Given the description of an element on the screen output the (x, y) to click on. 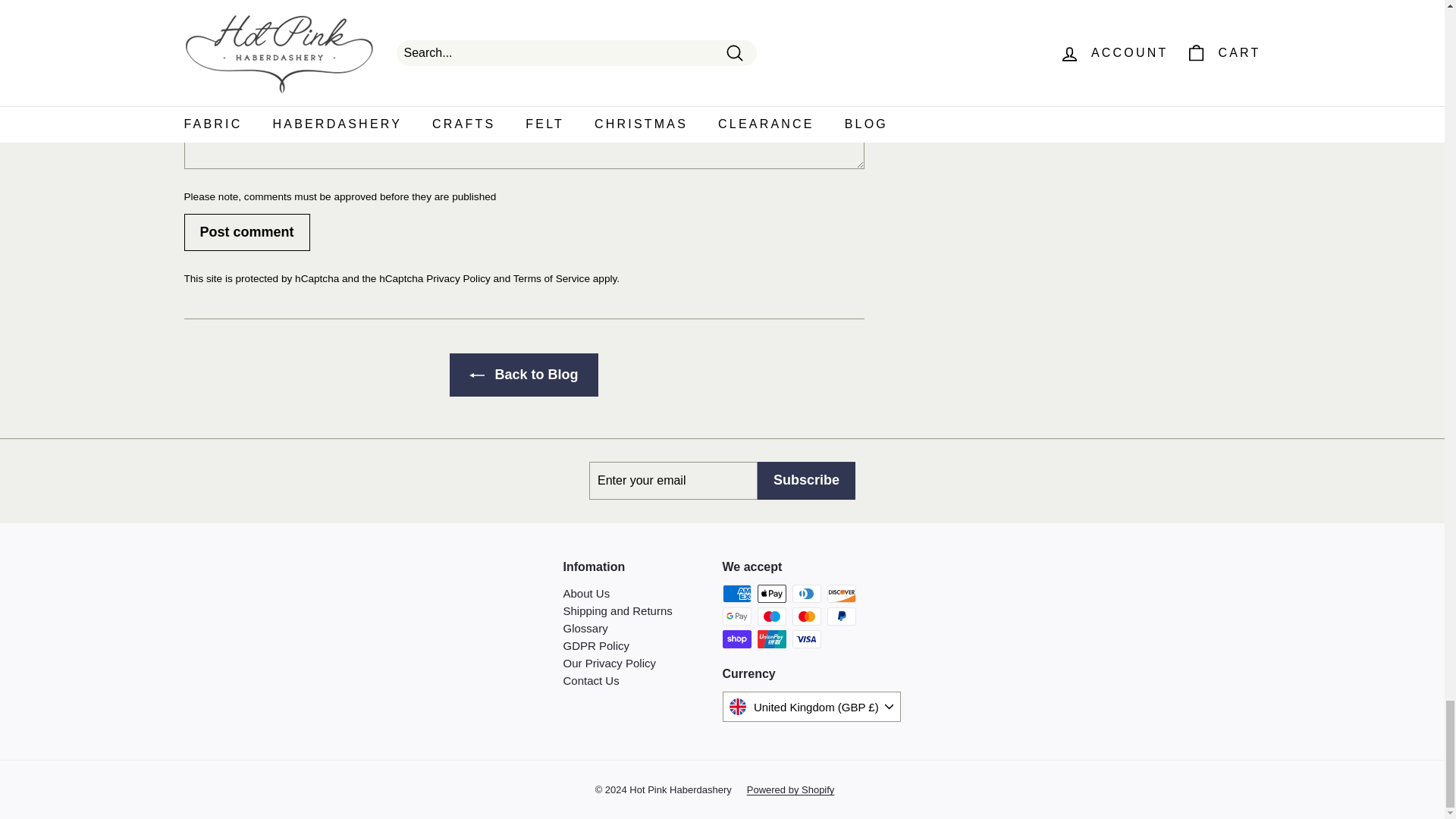
Apple Pay (771, 593)
Maestro (771, 616)
PayPal (841, 616)
Shop Pay (736, 638)
Visa (806, 638)
Union Pay (771, 638)
Mastercard (806, 616)
American Express (736, 593)
Discover (841, 593)
Google Pay (736, 616)
